Given the description of an element on the screen output the (x, y) to click on. 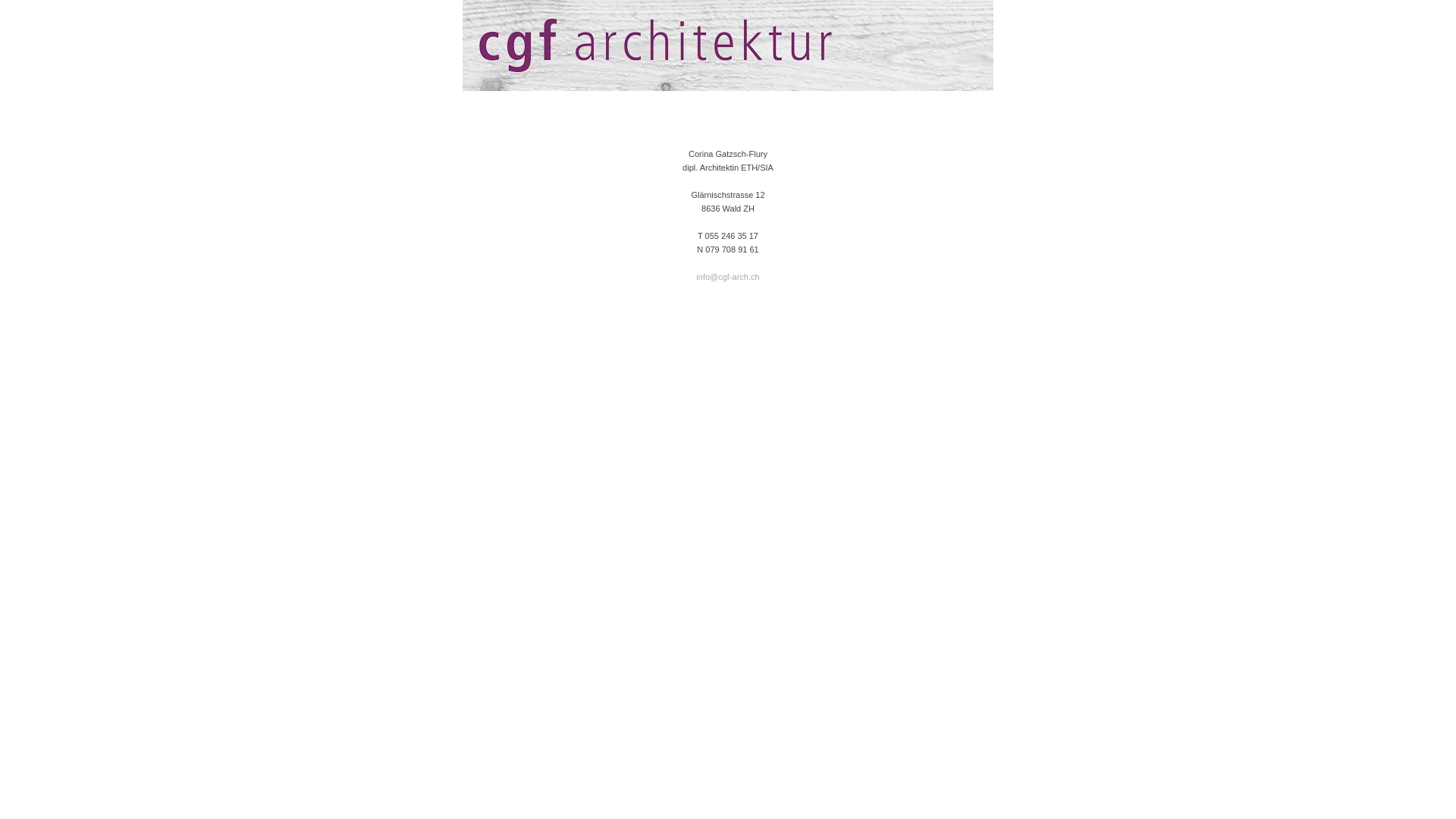
info@cgf-arch.ch Element type: text (727, 276)
